Given the description of an element on the screen output the (x, y) to click on. 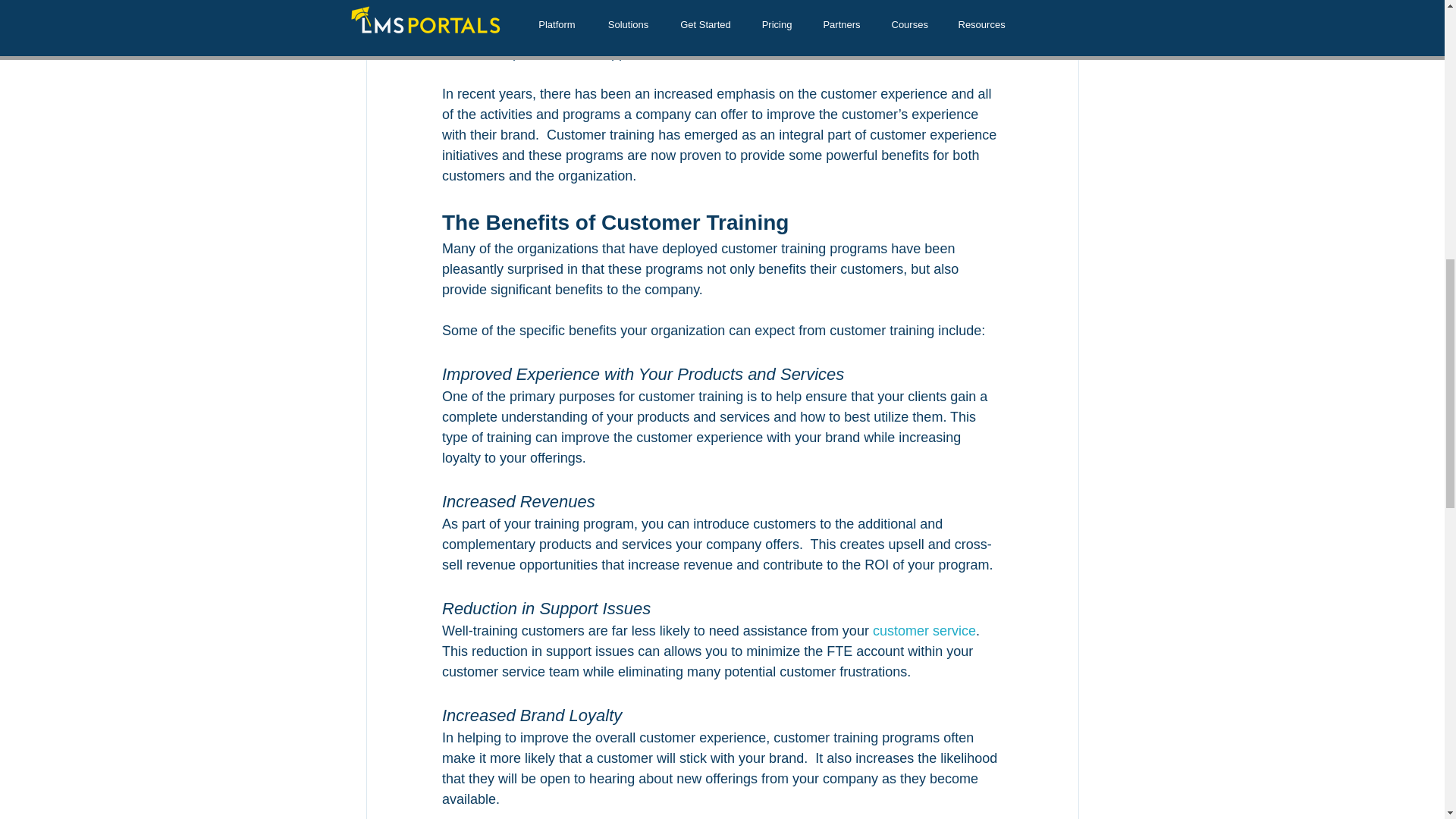
customer service (923, 630)
Extended Enterprise Training (808, 11)
